Given the description of an element on the screen output the (x, y) to click on. 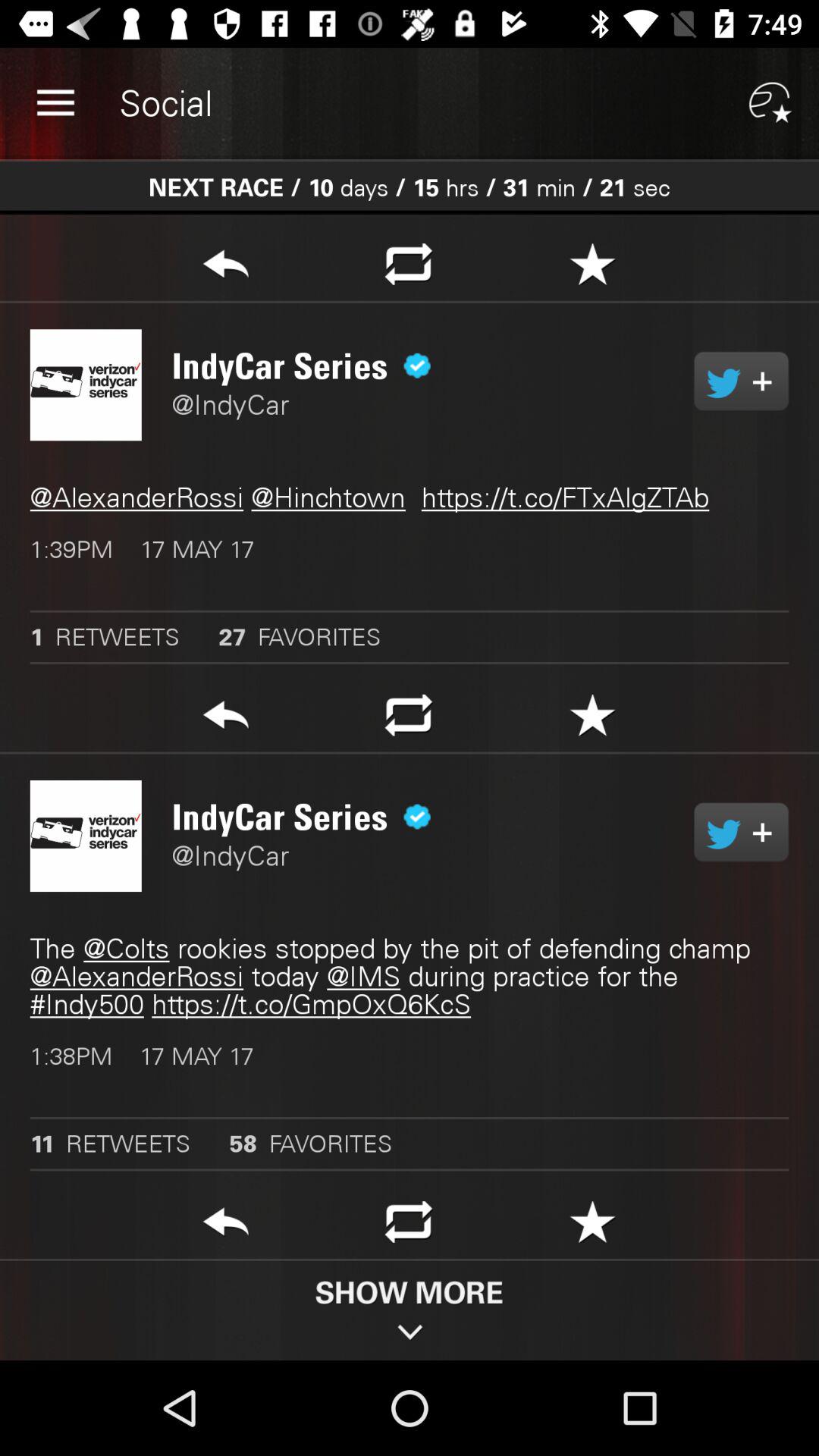
retweet the tweet (408, 1226)
